Given the description of an element on the screen output the (x, y) to click on. 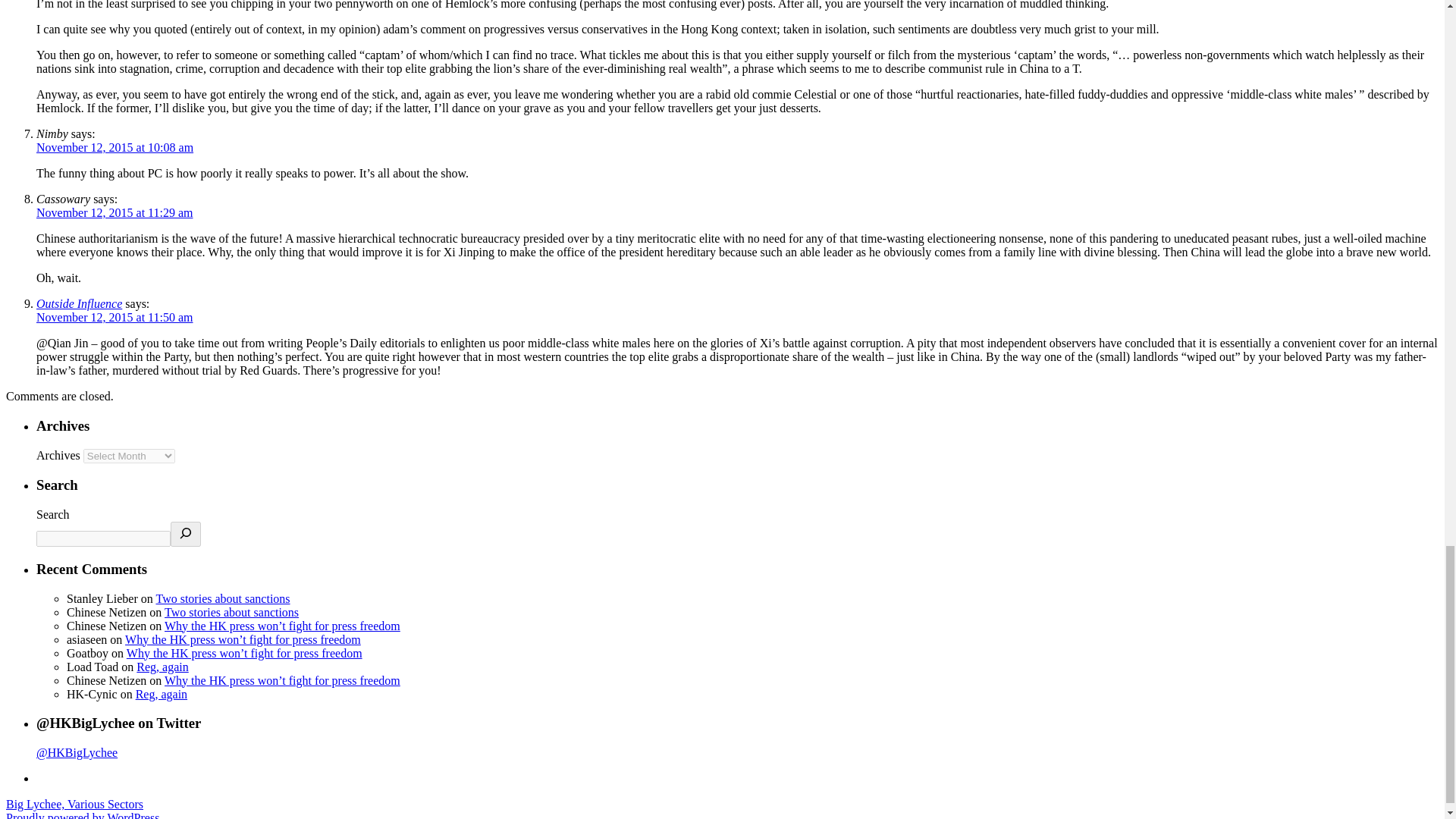
November 12, 2015 at 11:50 am (114, 317)
Outside Influence (79, 303)
Two stories about sanctions (222, 598)
Reg, again (161, 694)
Two stories about sanctions (231, 612)
November 12, 2015 at 11:29 am (114, 212)
November 12, 2015 at 10:08 am (114, 146)
Reg, again (161, 666)
